Given the description of an element on the screen output the (x, y) to click on. 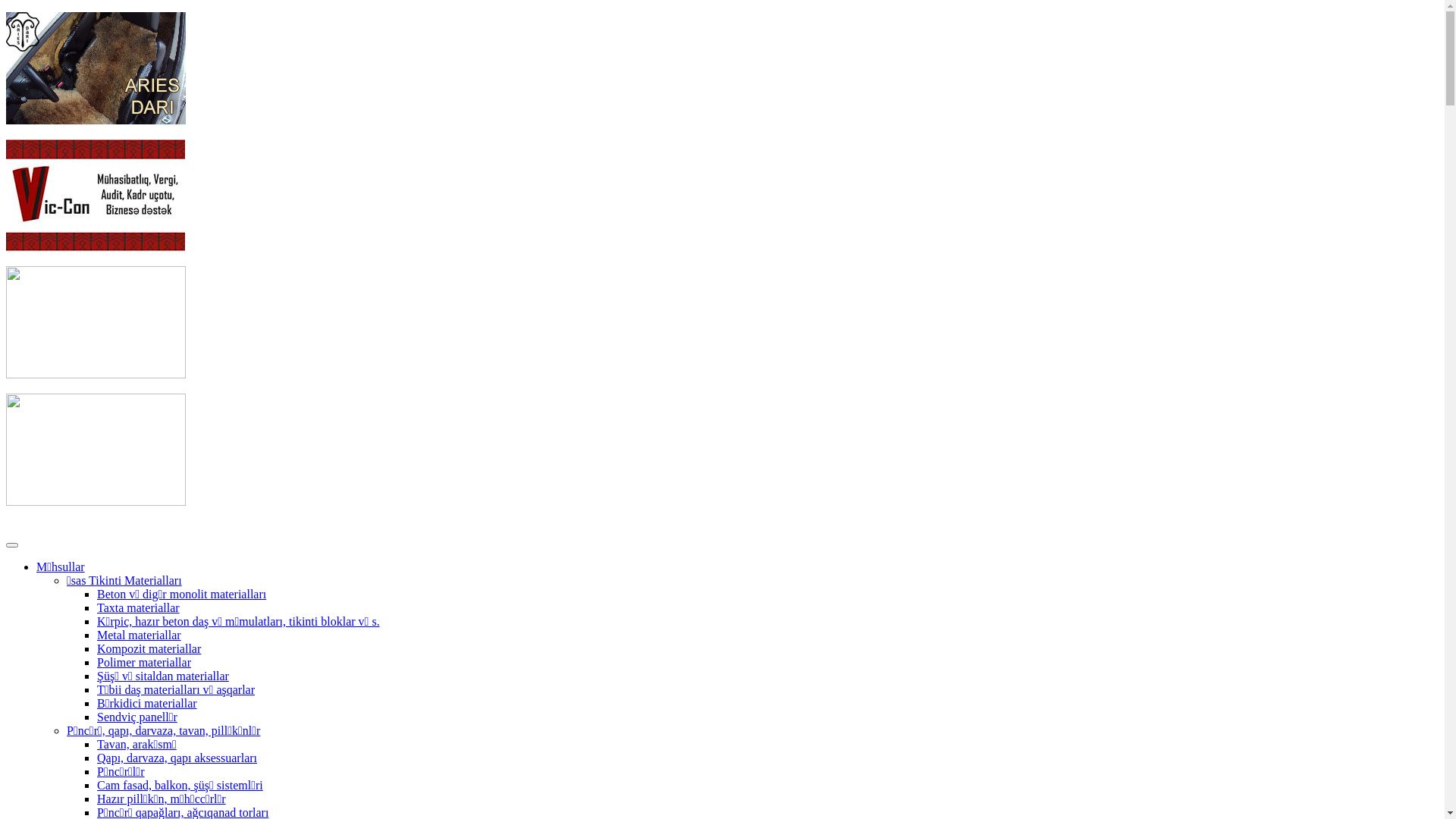
Taxta materiallar Element type: text (138, 607)
Kompozit materiallar Element type: text (148, 648)
Vic-Con Element type: hover (95, 246)
Vic-Con Element type: hover (95, 195)
Metal materiallar Element type: text (139, 634)
Polimer materiallar Element type: text (144, 661)
